Given the description of an element on the screen output the (x, y) to click on. 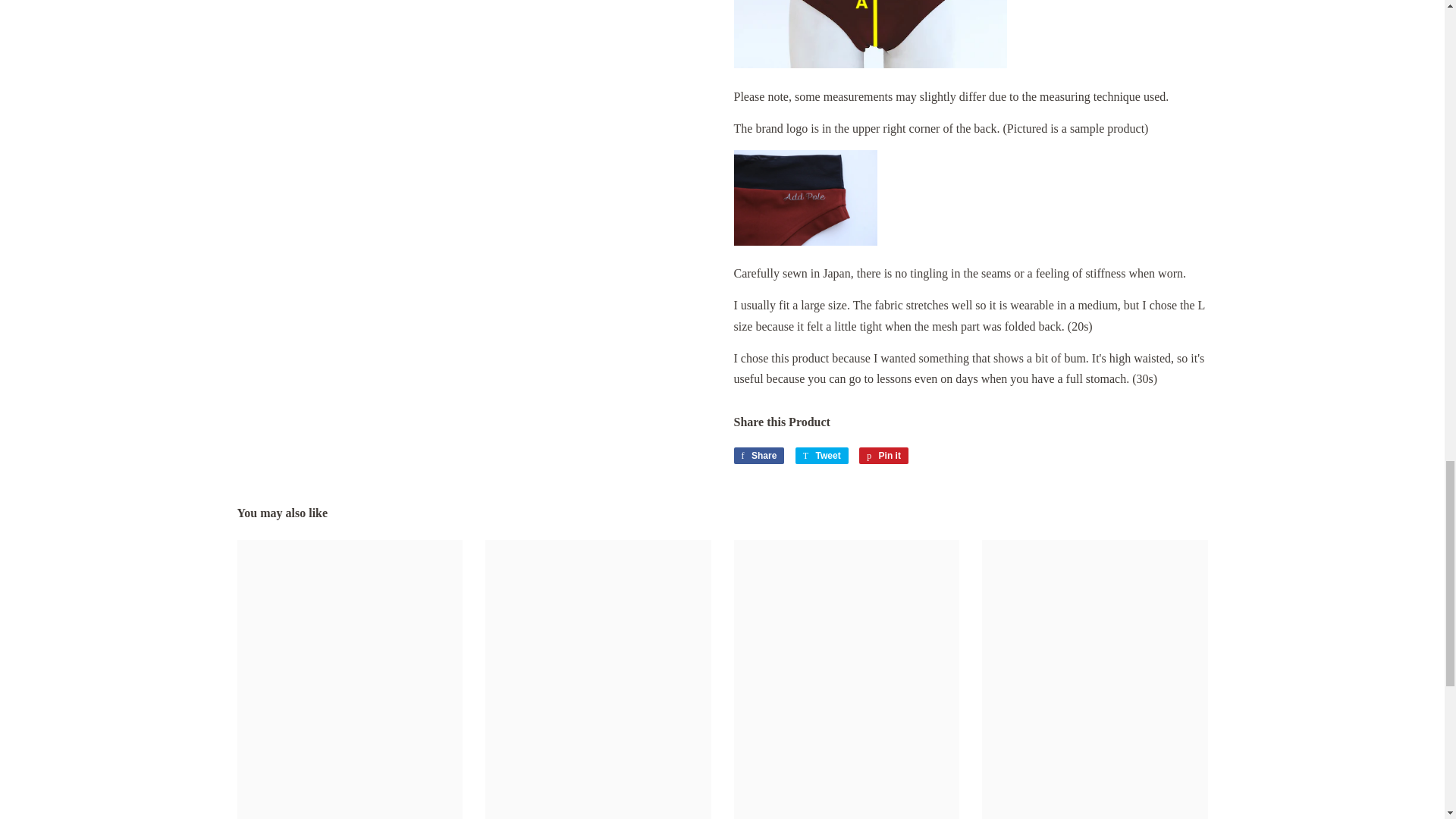
Tweet on Twitter (821, 455)
Pin on Pinterest (883, 455)
Share on Facebook (758, 455)
